Given the description of an element on the screen output the (x, y) to click on. 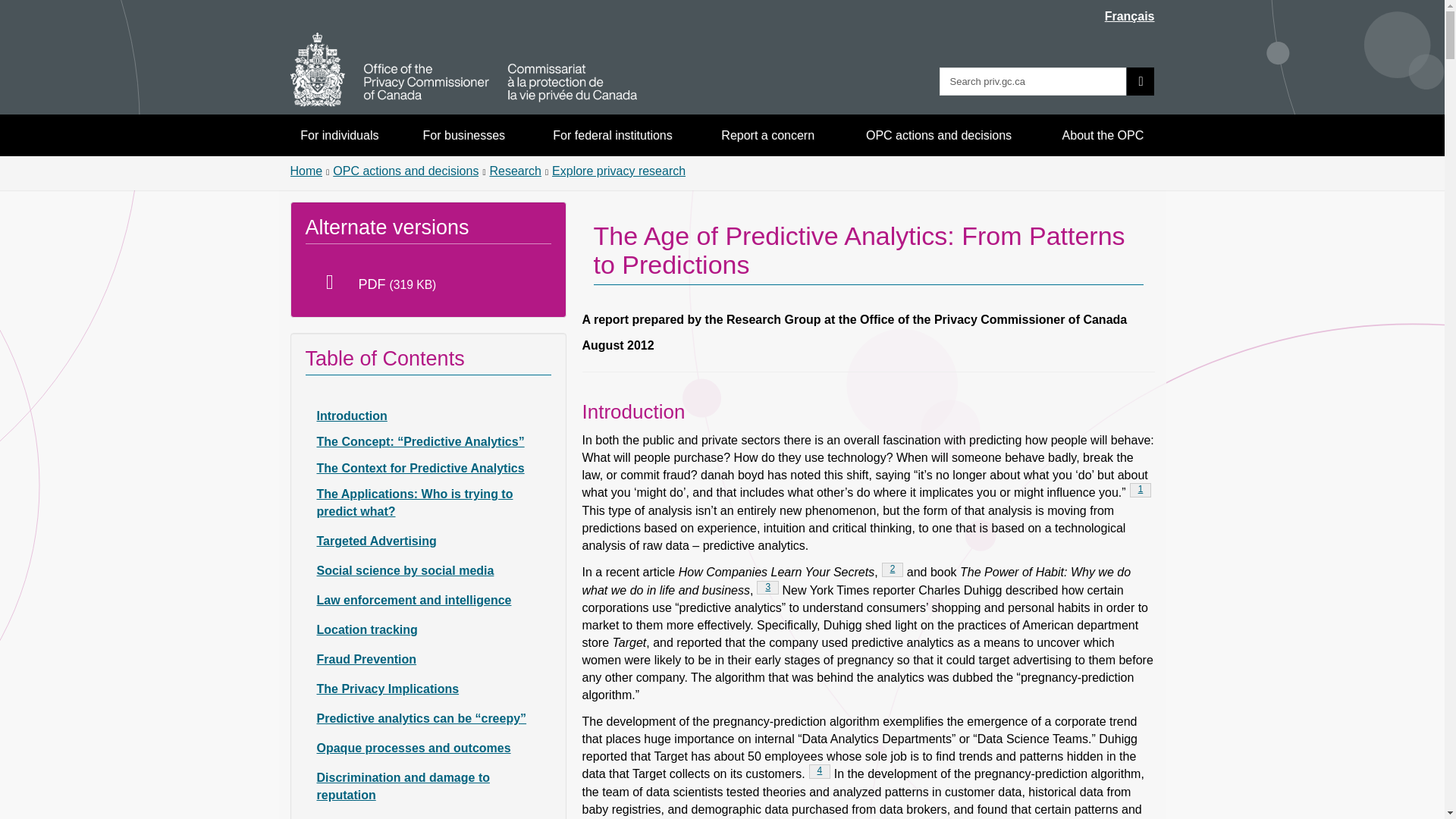
Search (1140, 81)
For businesses (463, 135)
Report a concern (768, 135)
OPC actions and decisions (939, 135)
Explore privacy research (618, 170)
Office of the Privacy Commissioner of Canada (463, 69)
About the OPC (1102, 135)
Research (767, 587)
Skip to main content (514, 170)
For federal institutions (725, 11)
Home (612, 135)
OPC actions and decisions (893, 569)
For individuals (305, 170)
